Given the description of an element on the screen output the (x, y) to click on. 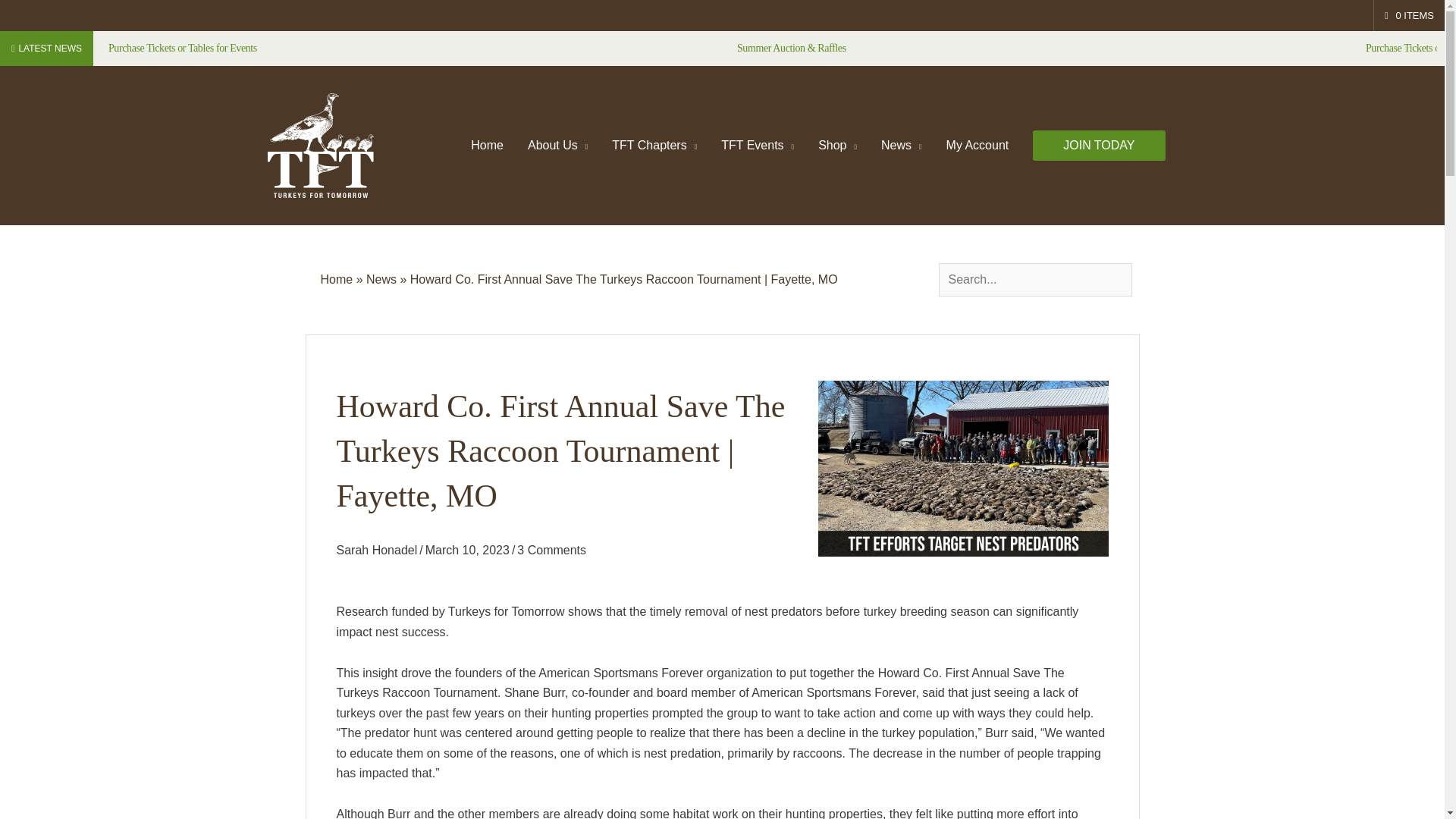
Save the turkeys Coon Hunt (963, 468)
JOIN TODAY (1098, 145)
Purchase Tickets or Tables for Events (182, 48)
